Given the description of an element on the screen output the (x, y) to click on. 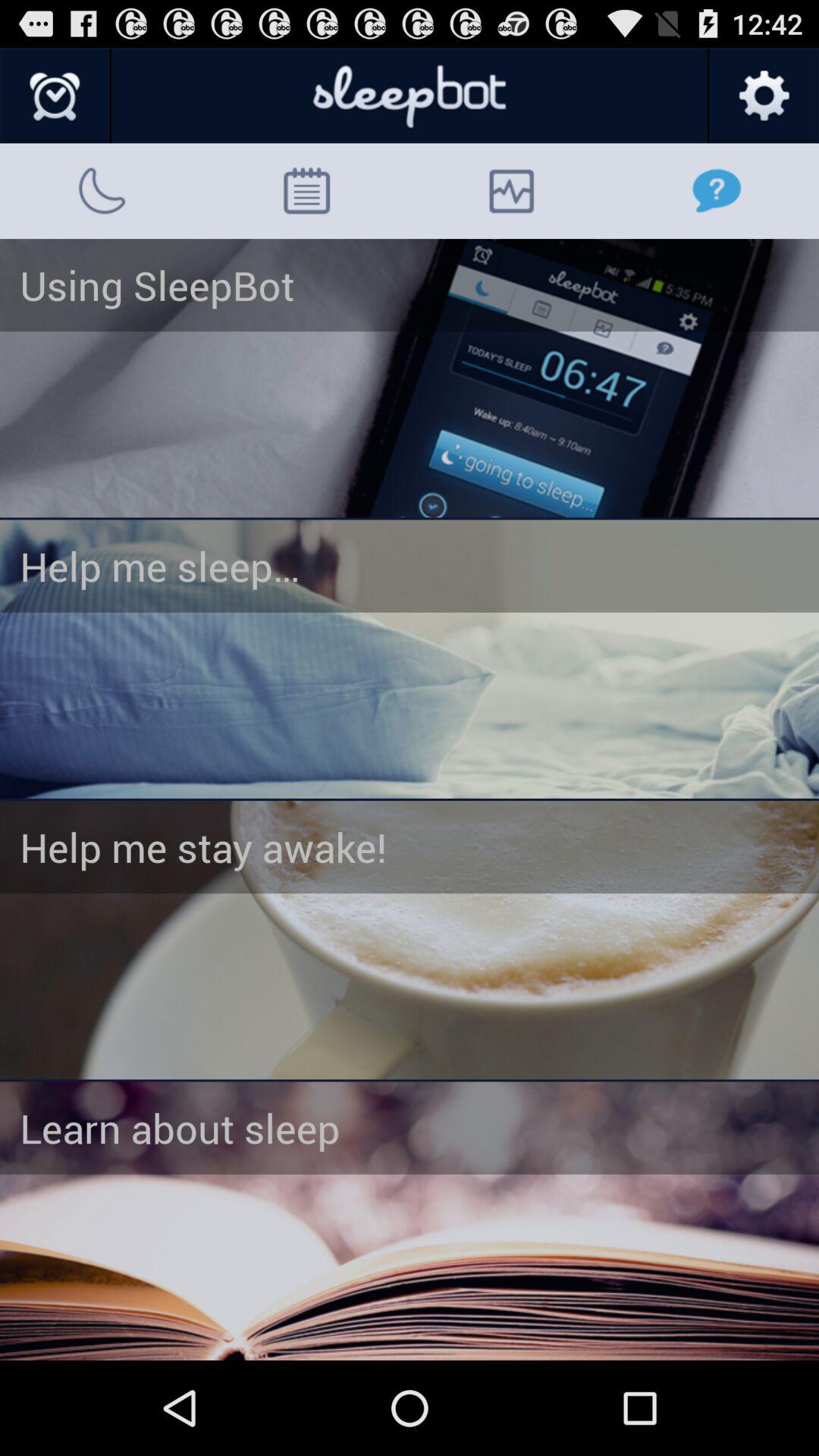
set options (763, 96)
